Given the description of an element on the screen output the (x, y) to click on. 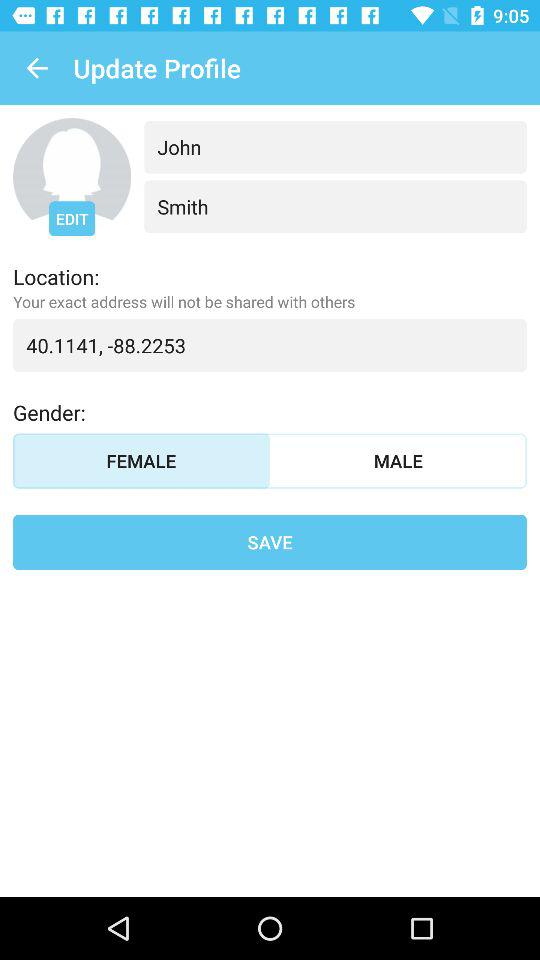
launch item to the left of the update profile (36, 68)
